Given the description of an element on the screen output the (x, y) to click on. 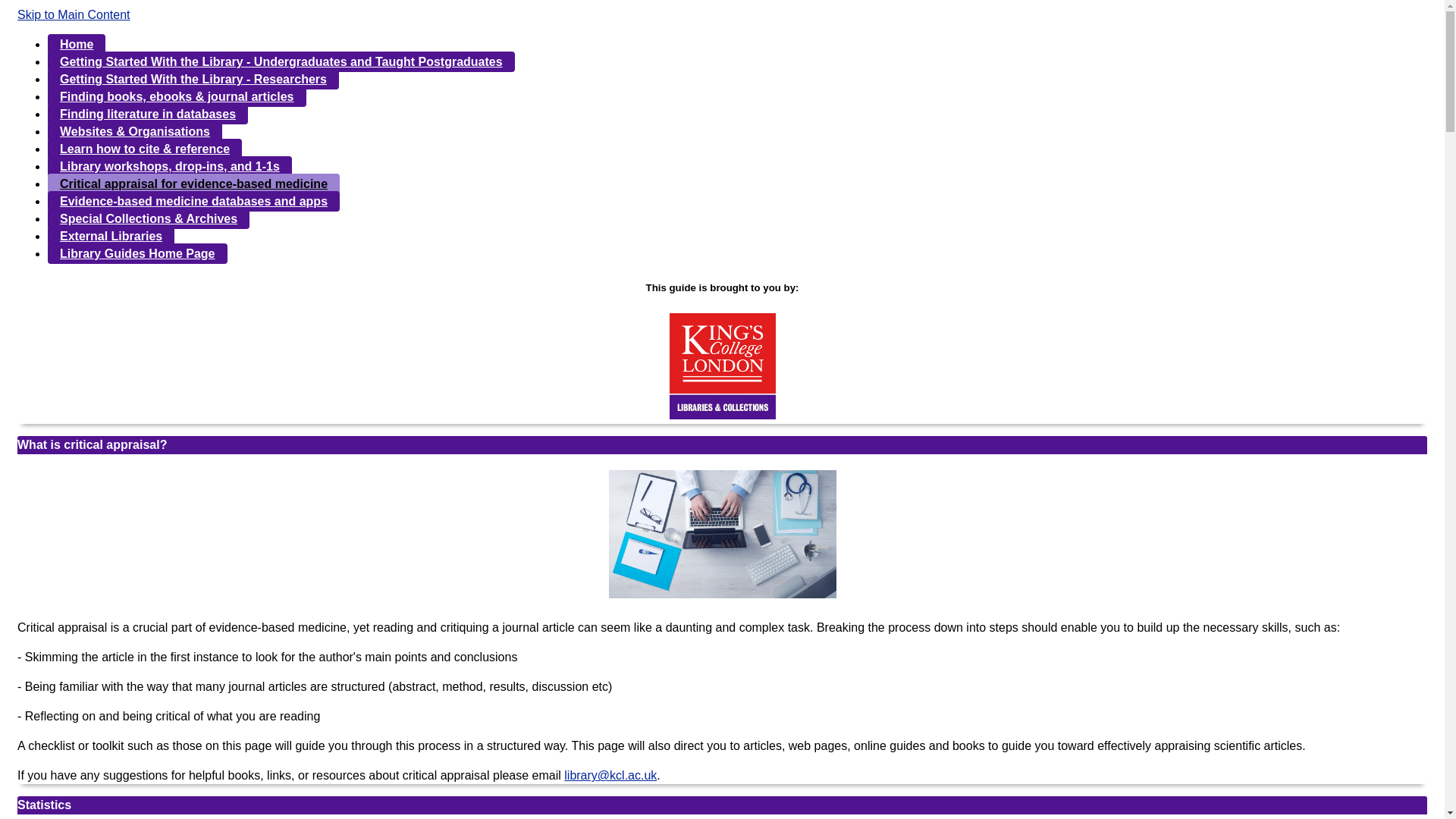
Library workshops, drop-ins, and 1-1s (170, 166)
External Libraries (111, 236)
Evidence-based medicine databases and apps (193, 200)
Finding literature in databases (147, 114)
Critical appraisal for evidence-based medicine (193, 183)
Library Guides Home Page (137, 253)
Getting Started With the Library - Researchers (193, 78)
Skip to Main Content (74, 14)
Home (76, 44)
